Given the description of an element on the screen output the (x, y) to click on. 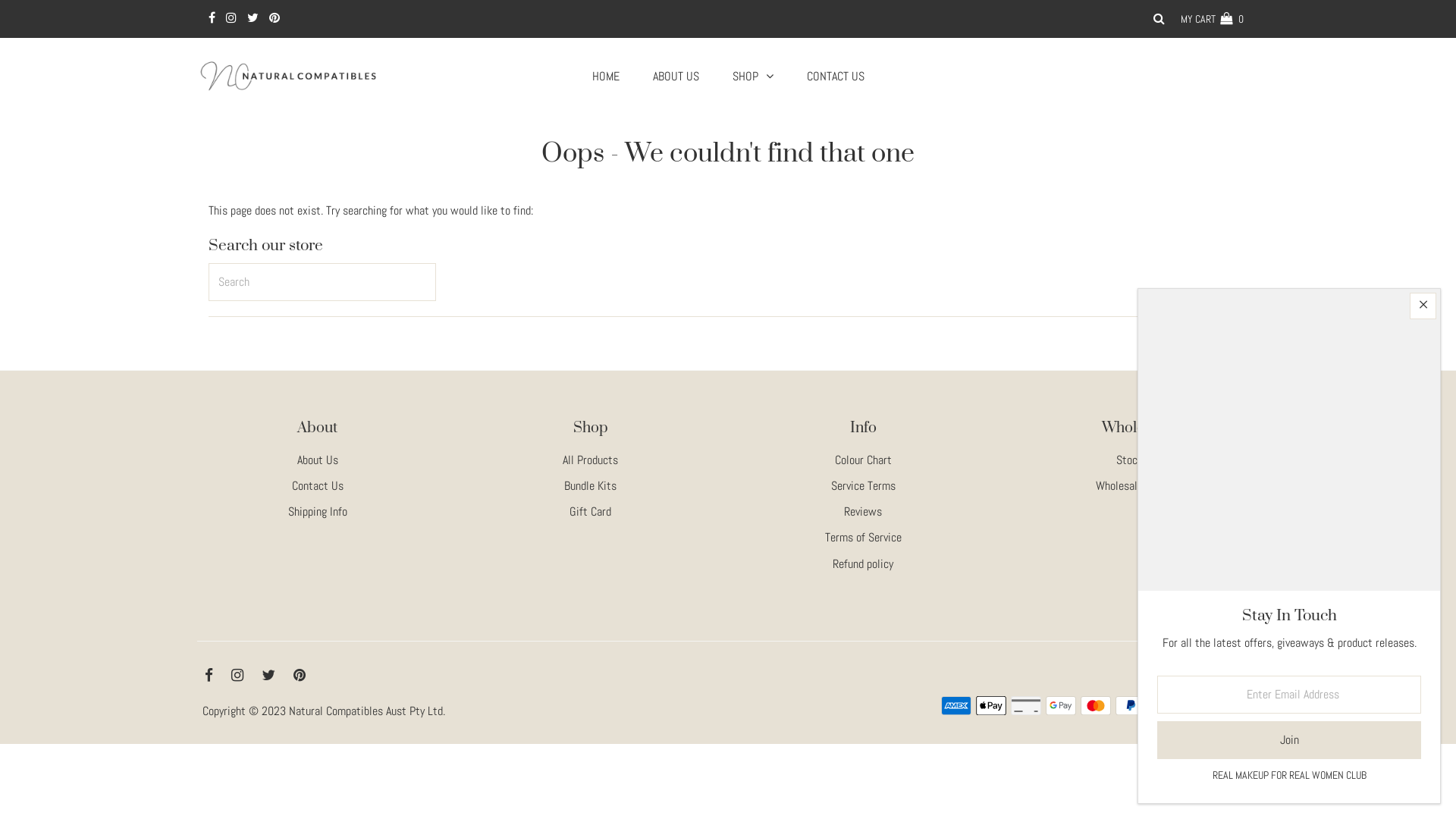
HOME Element type: text (604, 76)
Reviews Element type: text (862, 511)
ABOUT US Element type: text (675, 76)
Natural Compatibles Aust Pty Ltd Element type: text (365, 710)
Click to scrollup Element type: hover (1425, 788)
CONTACT US Element type: text (835, 76)
Close popup Element type: hover (1422, 305)
SHOP Element type: text (752, 75)
Contact Us Element type: text (317, 485)
Terms of Service Element type: text (863, 537)
MY CART    0 Element type: text (1212, 18)
About Us Element type: text (317, 459)
Service Terms Element type: text (863, 485)
Gift Card Element type: text (590, 511)
Shipping Info Element type: text (317, 511)
Colour Chart Element type: text (862, 459)
Stockist Element type: text (1135, 459)
All Products Element type: text (590, 459)
Bundle Kits Element type: text (590, 485)
Click to toggle search Element type: hover (1158, 18)
Wholesale Inquiry Element type: text (1135, 485)
Refund policy Element type: text (862, 563)
Join Element type: text (1289, 740)
